Given the description of an element on the screen output the (x, y) to click on. 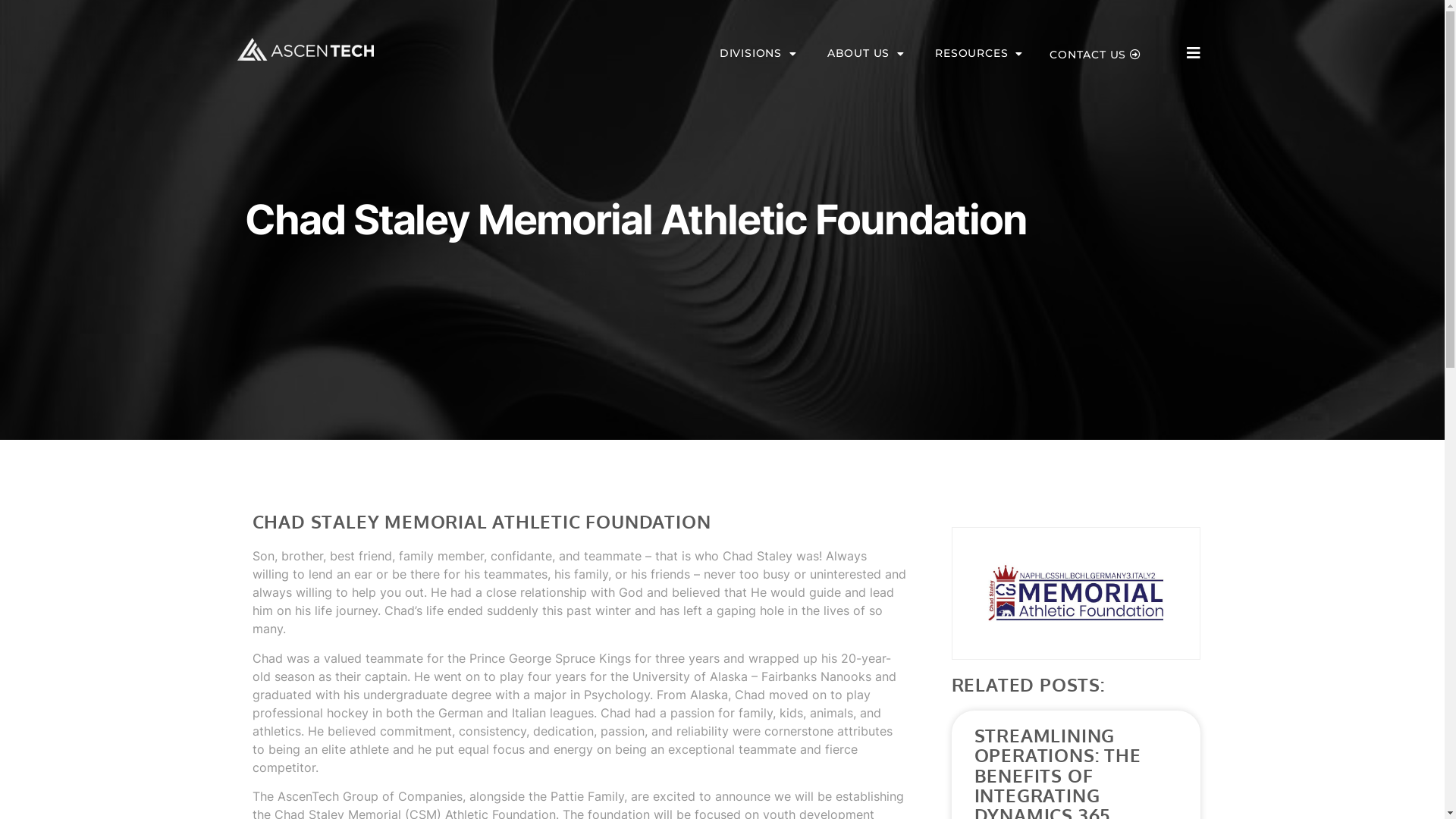
ABOUT US Element type: text (865, 53)
RESOURCES Element type: text (978, 53)
CONTACT US Element type: text (1095, 54)
DIVISIONS Element type: text (758, 53)
